Given the description of an element on the screen output the (x, y) to click on. 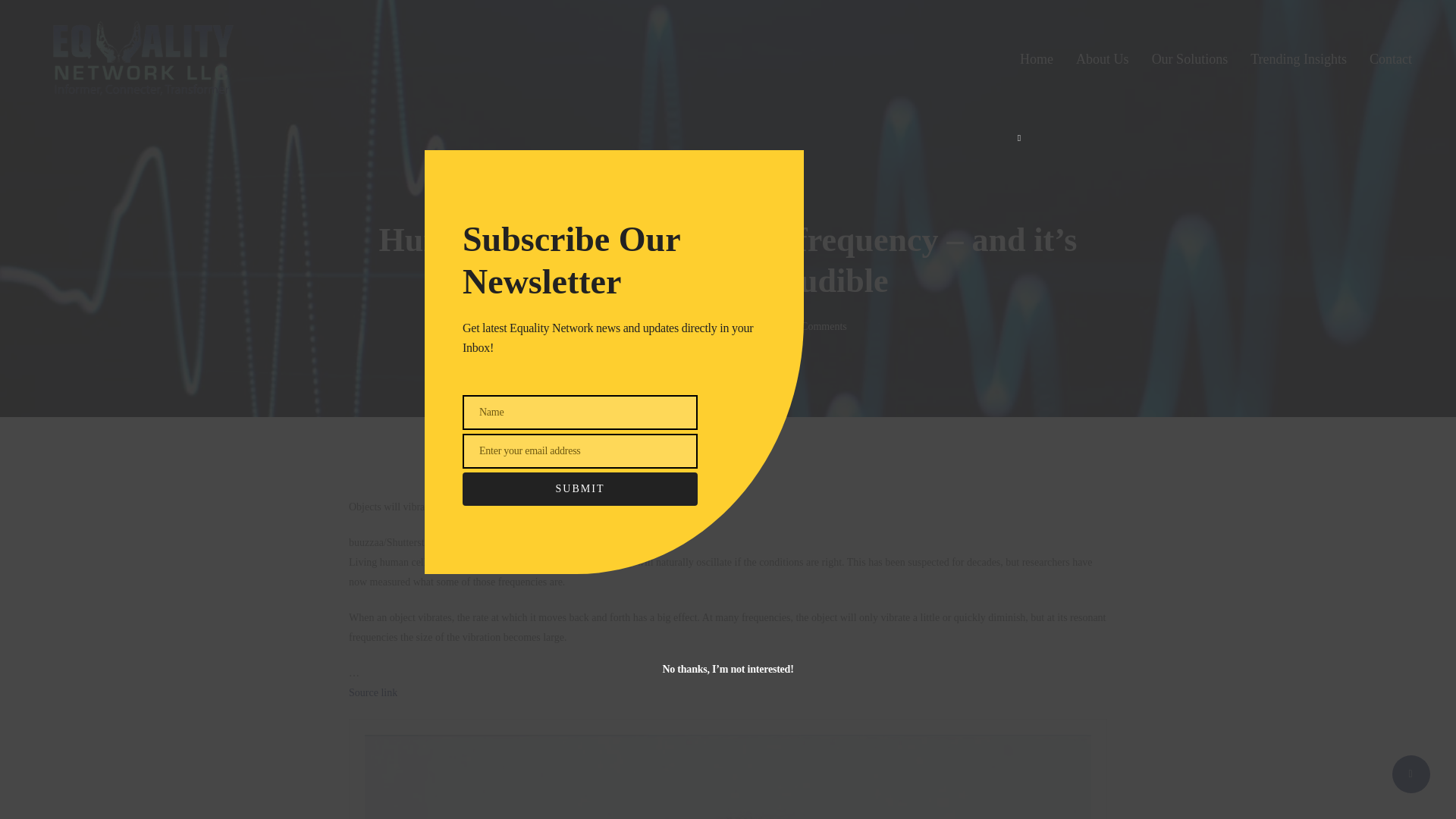
Trending Insights (1298, 58)
NEWS (727, 192)
About Us (1102, 58)
Our Solutions (1189, 58)
Source link (373, 692)
Contact (1391, 58)
No Comments (816, 325)
Felecia (623, 325)
Home (1036, 58)
Posts by Felecia (623, 325)
